Given the description of an element on the screen output the (x, y) to click on. 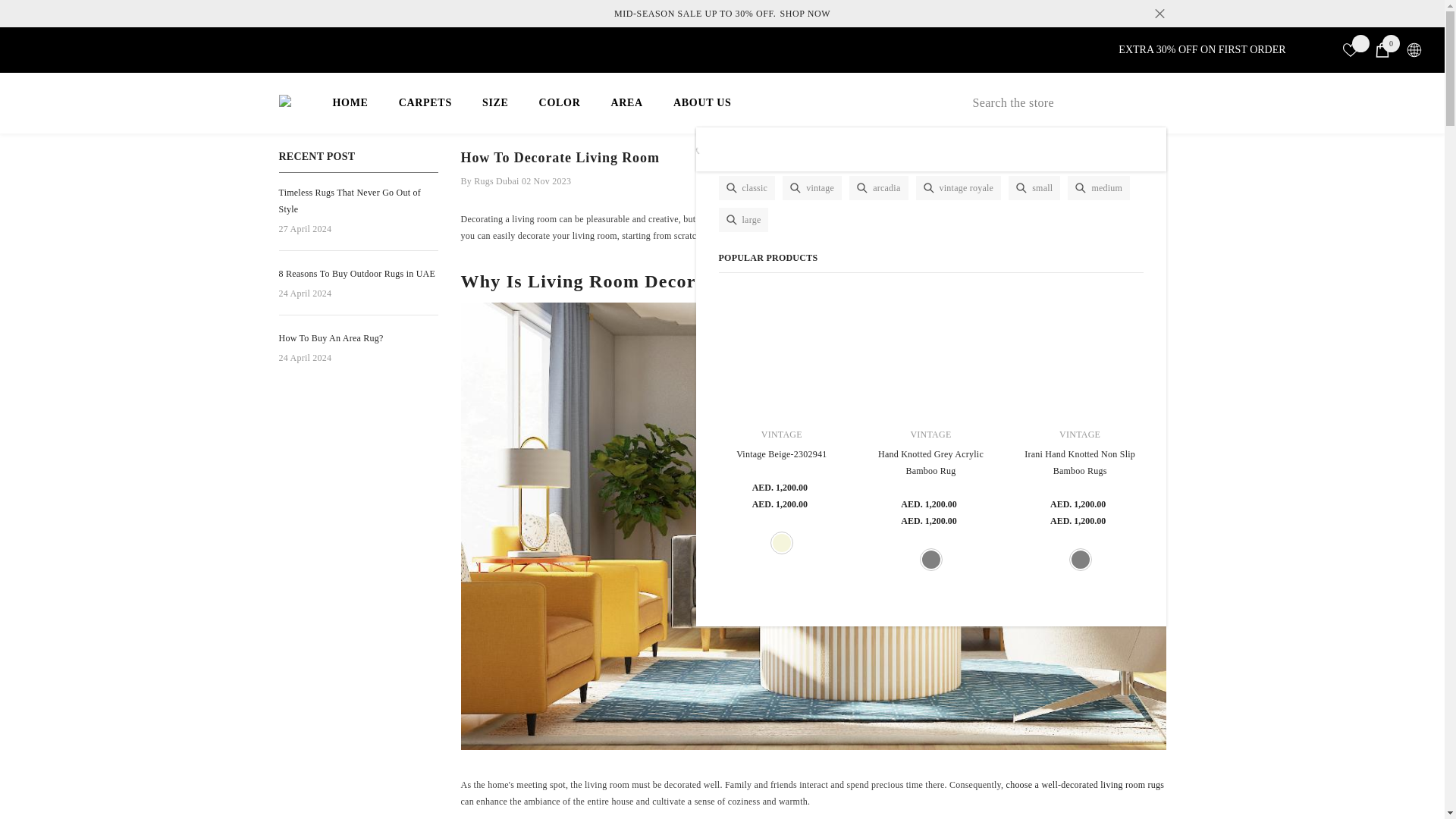
Hand Knotted Grey Acrylic Bamboo Rug (1382, 49)
Vintage (930, 347)
HOME (781, 434)
COLOR (349, 114)
SHOP NOW (559, 114)
Vintage (803, 13)
Grey (1079, 434)
Grey (1080, 558)
Vintage Beige-2302941 (931, 558)
